Given the description of an element on the screen output the (x, y) to click on. 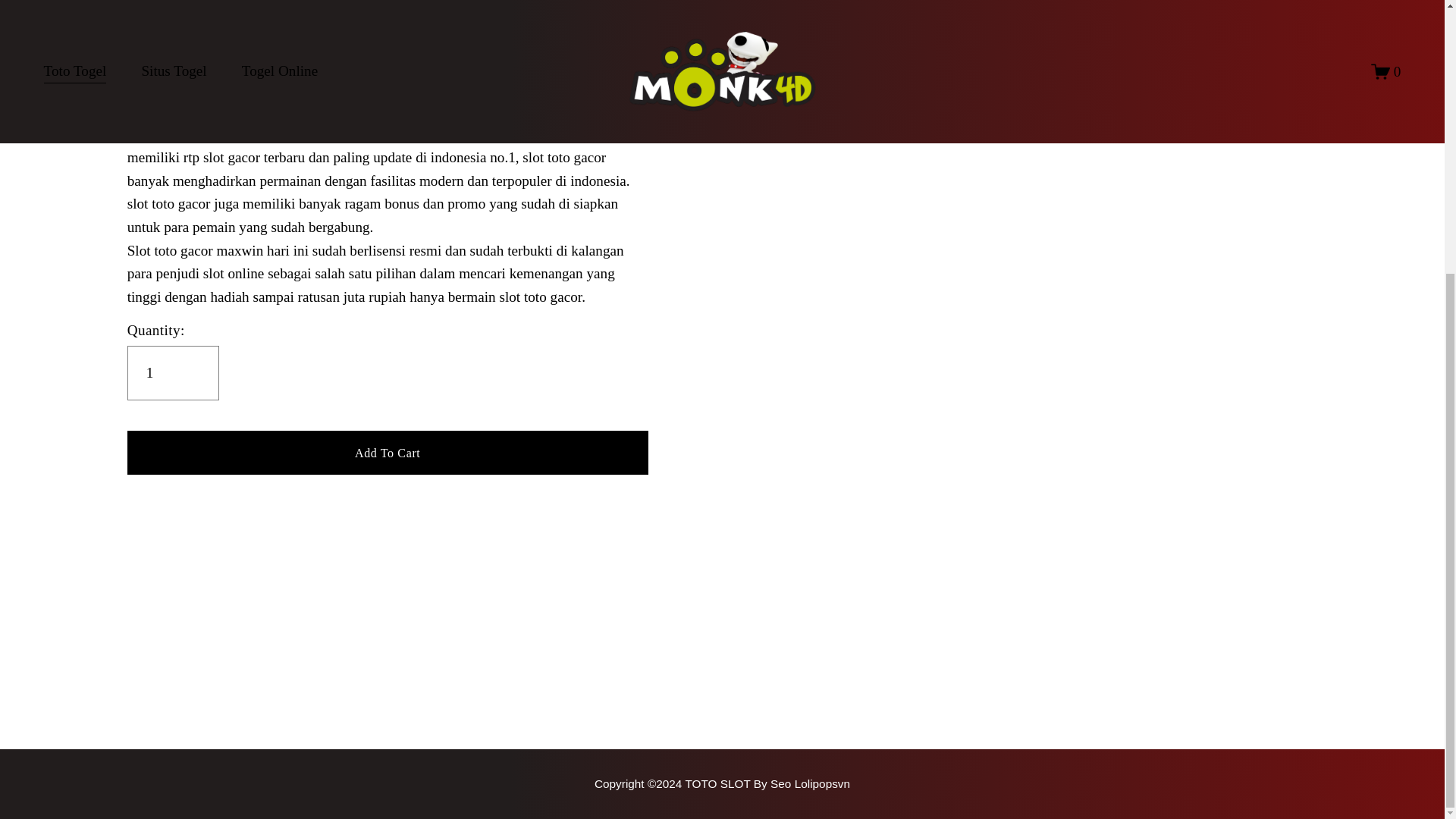
Add To Cart (387, 452)
1 (173, 372)
Slot toto gacor (355, 133)
Daftar Slot Online (722, 783)
